Given the description of an element on the screen output the (x, y) to click on. 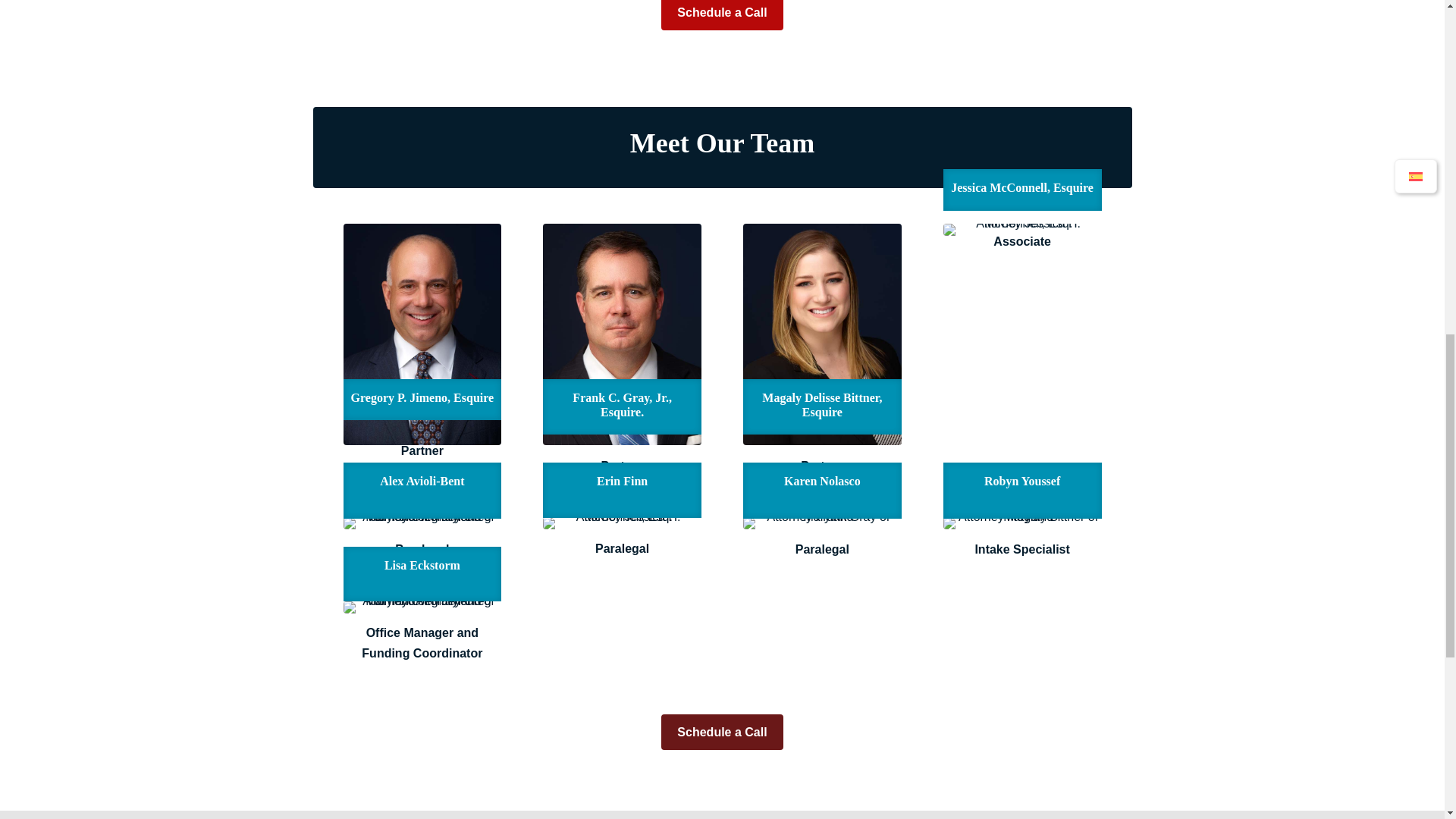
Erin-Headshot (622, 522)
Alex Headshot (421, 522)
Karen Headshot (821, 522)
Lisa Headshot (421, 607)
1.18.24 Jessica (1022, 229)
Robyn Headshot (1022, 522)
